Given the description of an element on the screen output the (x, y) to click on. 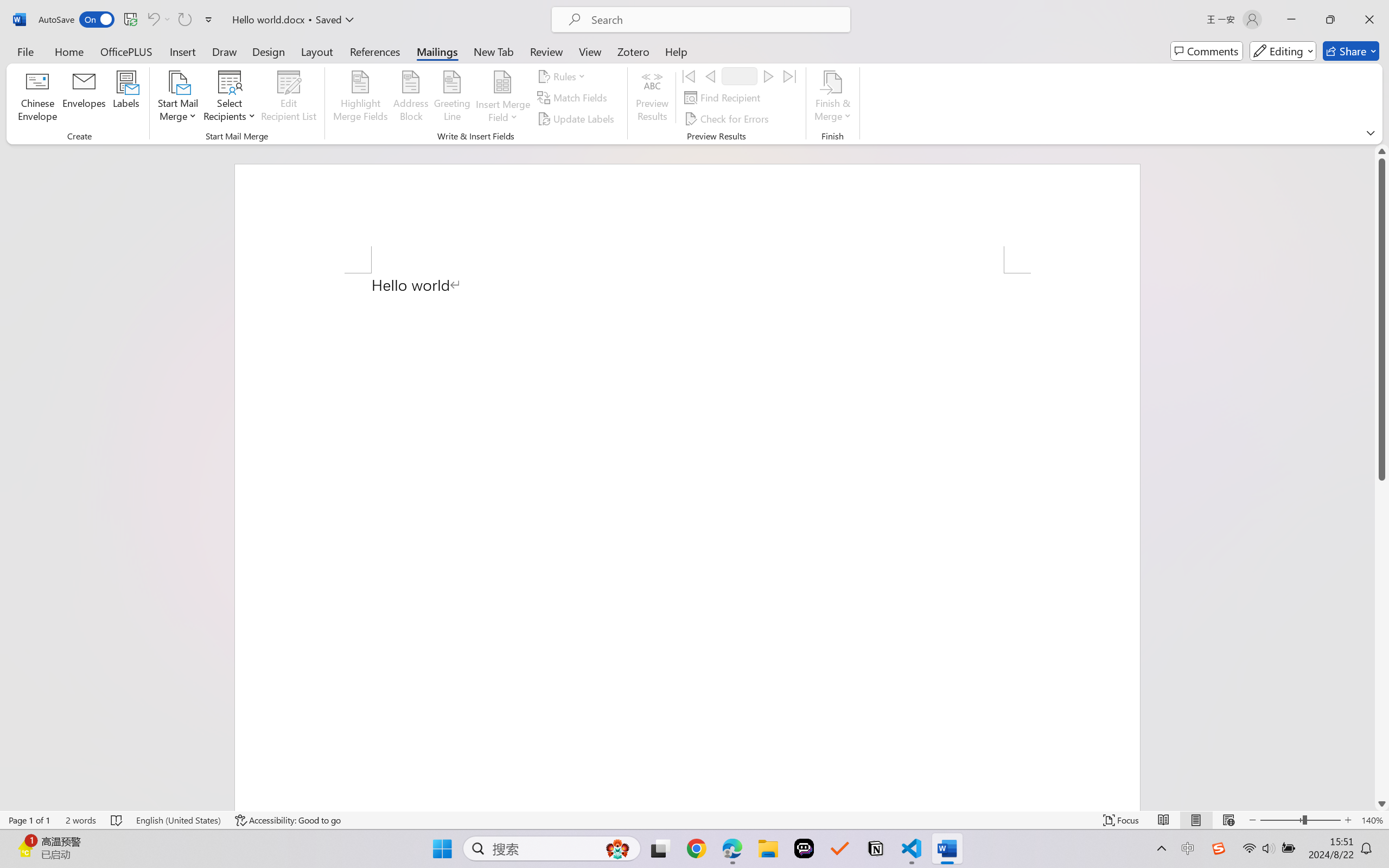
Highlight Merge Fields (360, 97)
Mailings (437, 51)
Microsoft search (715, 19)
Page 1 content (687, 541)
Share (1350, 51)
Class: Image (1218, 847)
Draw (224, 51)
Layout (316, 51)
Update Labels (576, 118)
Chinese Envelope... (37, 97)
Print Layout (1196, 819)
New Tab (493, 51)
Close (1369, 19)
Home (69, 51)
